Given the description of an element on the screen output the (x, y) to click on. 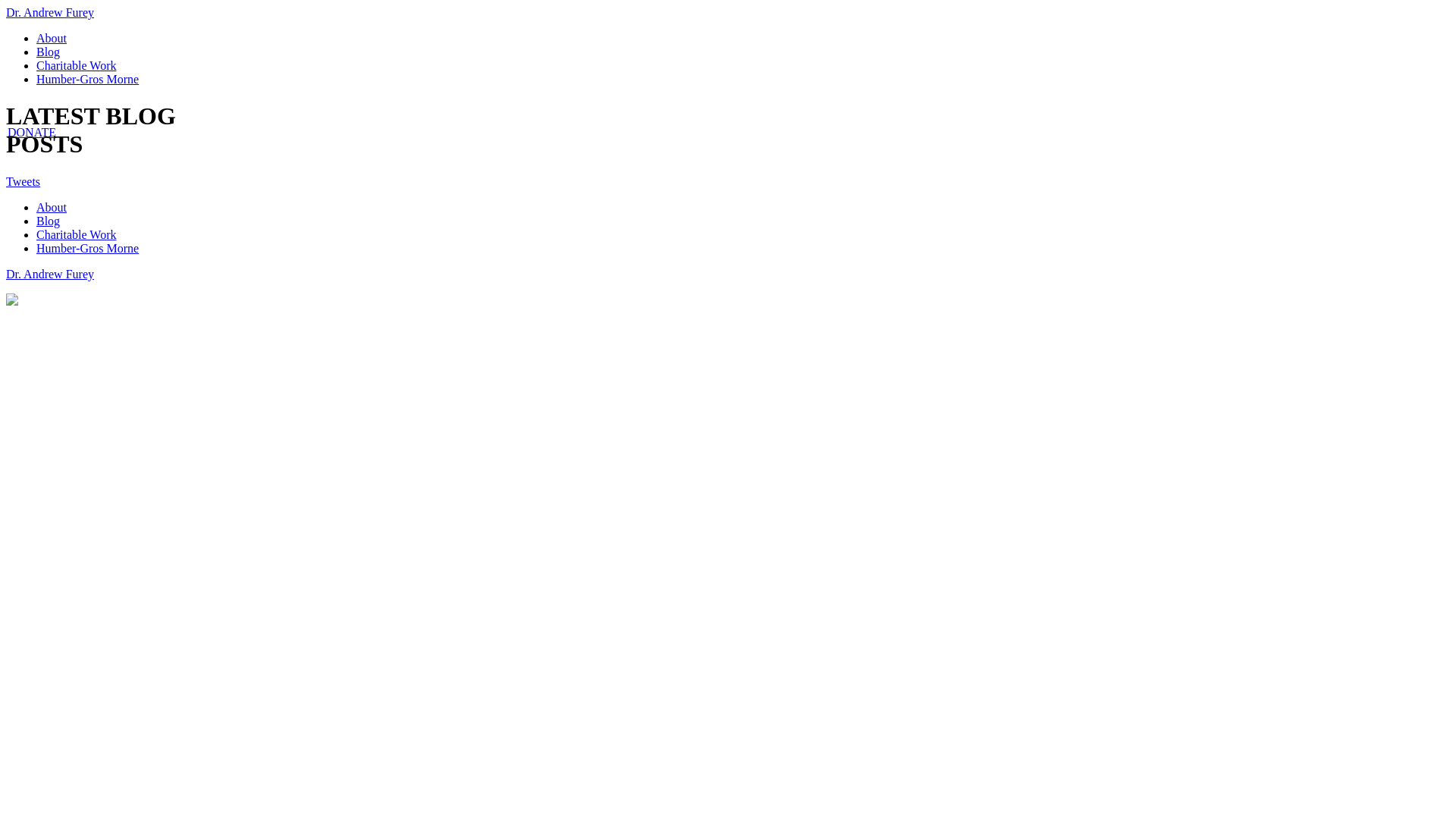
DONATE Element type: text (31, 131)
Dr. Andrew Furey Element type: text (50, 12)
Blog Element type: text (47, 51)
About Element type: text (51, 37)
Charitable Work Element type: text (76, 65)
About Element type: text (51, 206)
Blog Element type: text (47, 220)
Charitable Work Element type: text (76, 234)
Dr. Andrew Furey Element type: text (50, 273)
Humber-Gros Morne Element type: text (87, 247)
Humber-Gros Morne Element type: text (87, 78)
Tweets Element type: text (23, 181)
